Given the description of an element on the screen output the (x, y) to click on. 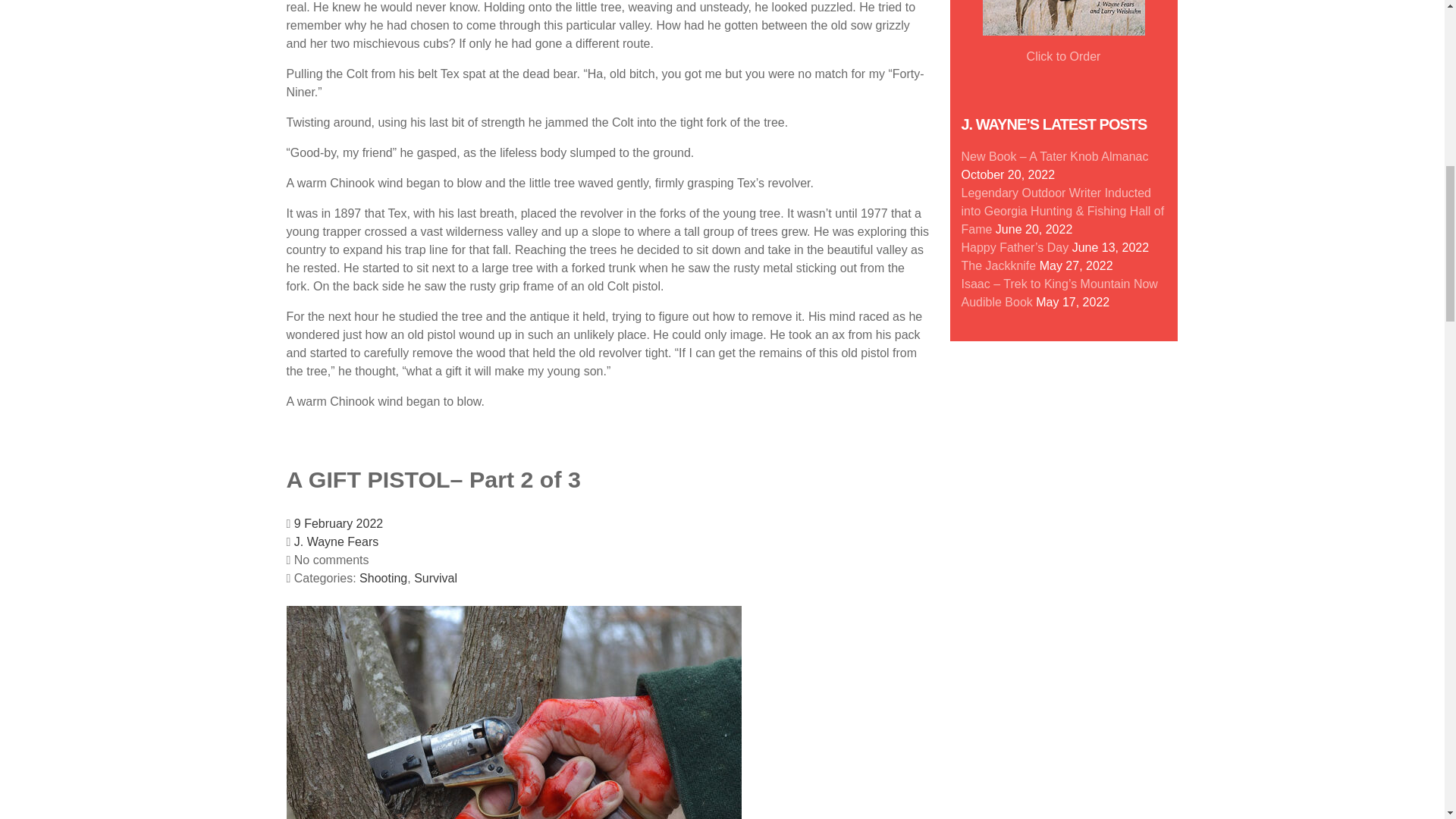
J. Wayne Fears (336, 541)
J. Wayne Fears (336, 541)
Click to Order (1063, 56)
Survival (435, 577)
Shooting (383, 577)
Survival (435, 577)
9 February 2022 (338, 522)
Shooting (383, 577)
